Given the description of an element on the screen output the (x, y) to click on. 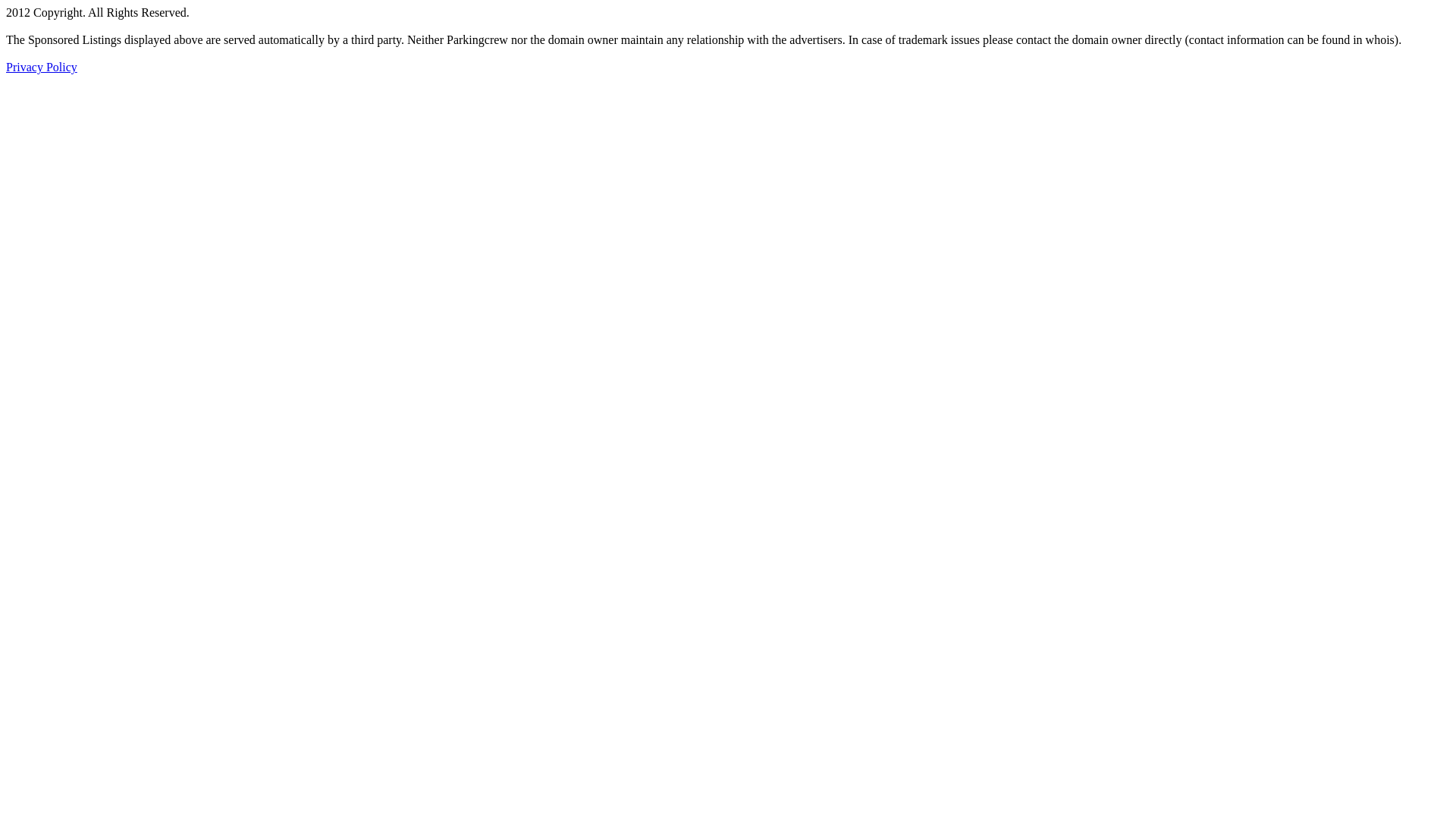
Privacy Policy Element type: text (41, 66)
